Given the description of an element on the screen output the (x, y) to click on. 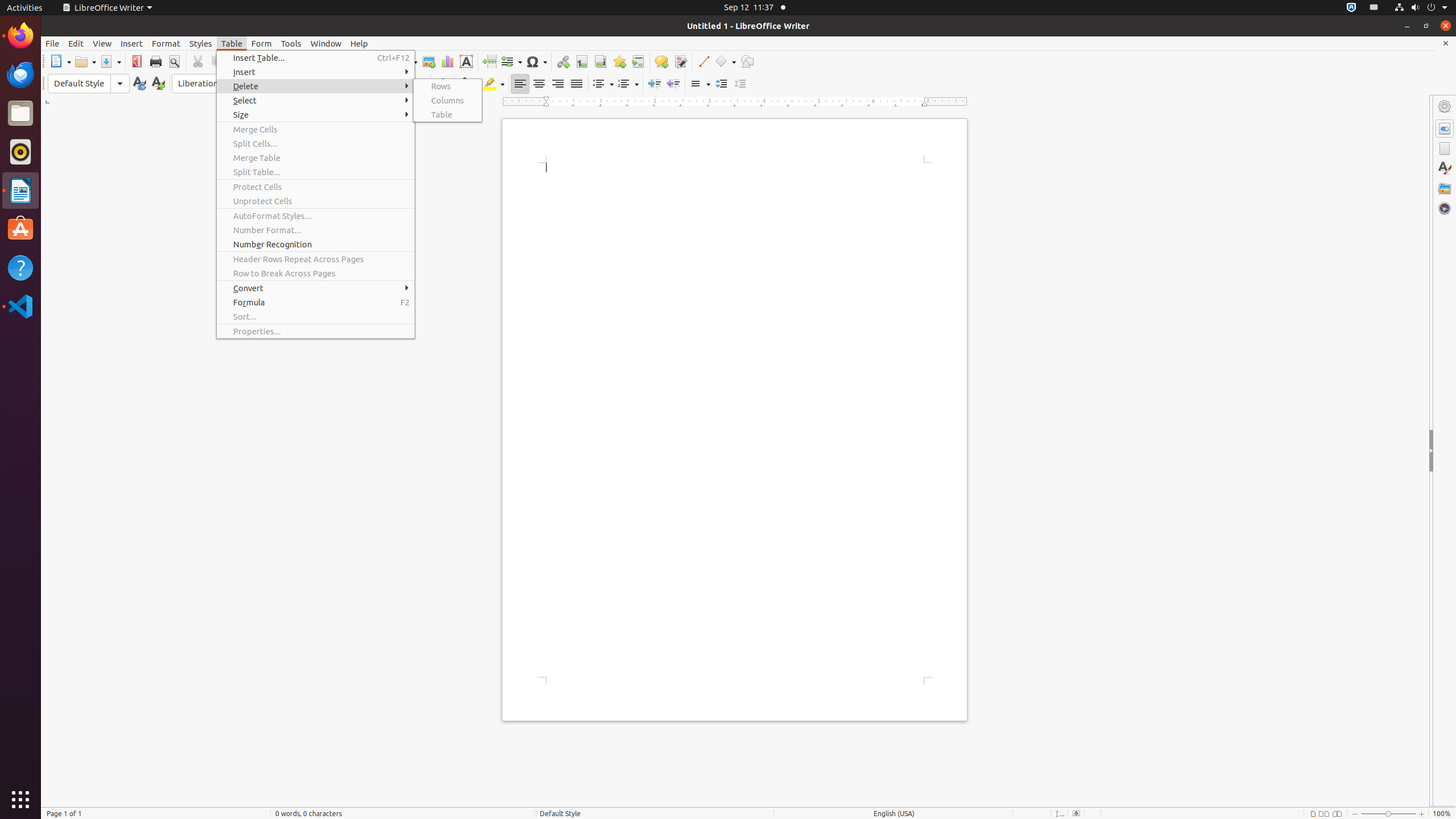
Chart Element type: push-button (446, 61)
Properties... Element type: menu-item (315, 331)
Footnote Element type: push-button (581, 61)
Merge Cells Element type: menu-item (315, 129)
Navigator Element type: radio-button (1444, 208)
